Given the description of an element on the screen output the (x, y) to click on. 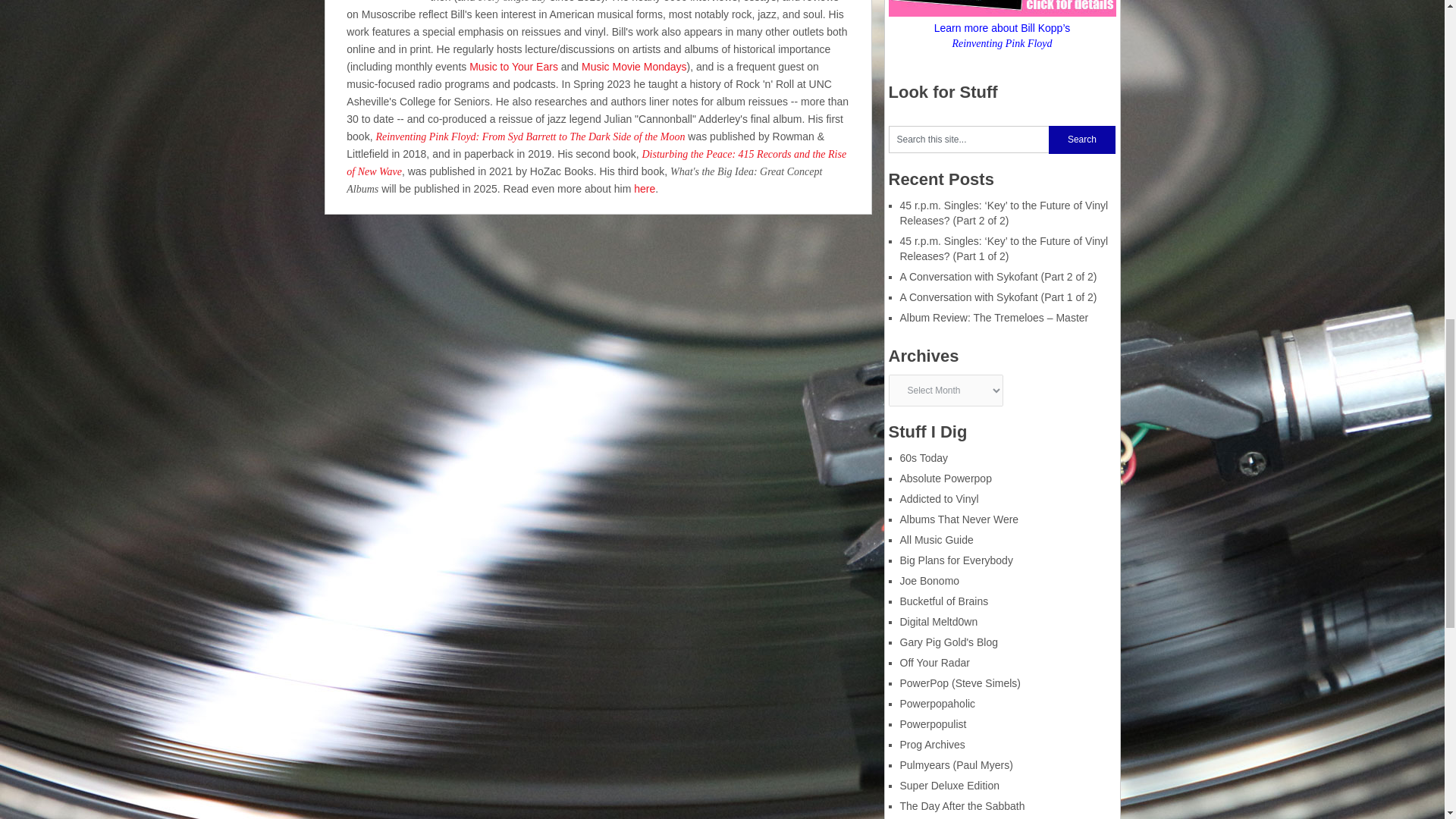
Search (1081, 139)
Search this site... (968, 139)
